Given the description of an element on the screen output the (x, y) to click on. 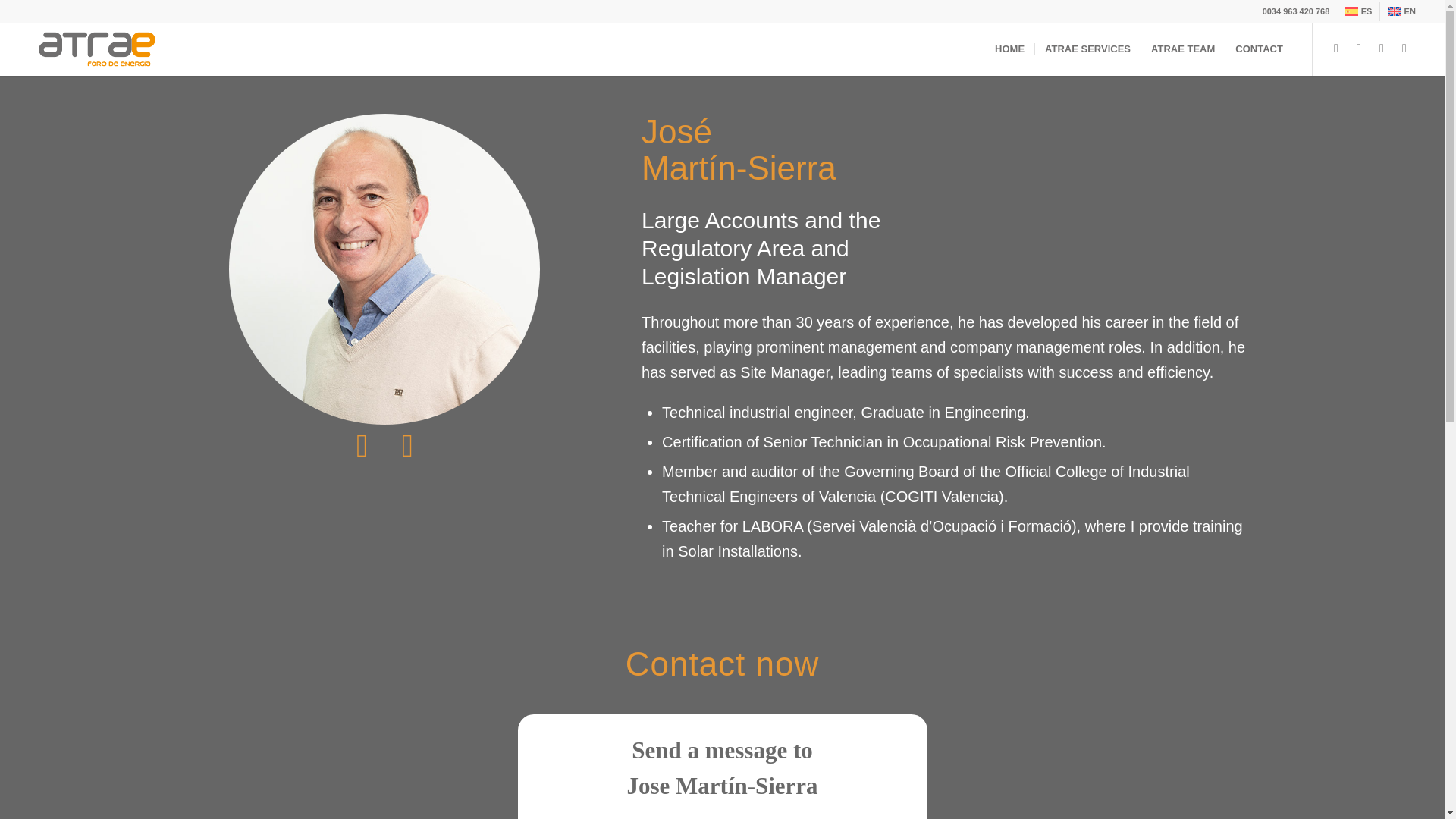
CONTACT (1258, 49)
logo-atrae (97, 49)
ES (1357, 11)
EN (1401, 11)
HOME (1009, 49)
ATRAE TEAM (1182, 49)
ATRAE SERVICES (1086, 49)
LinkedIn (1404, 47)
Mail (1381, 47)
ES (1357, 11)
